Given the description of an element on the screen output the (x, y) to click on. 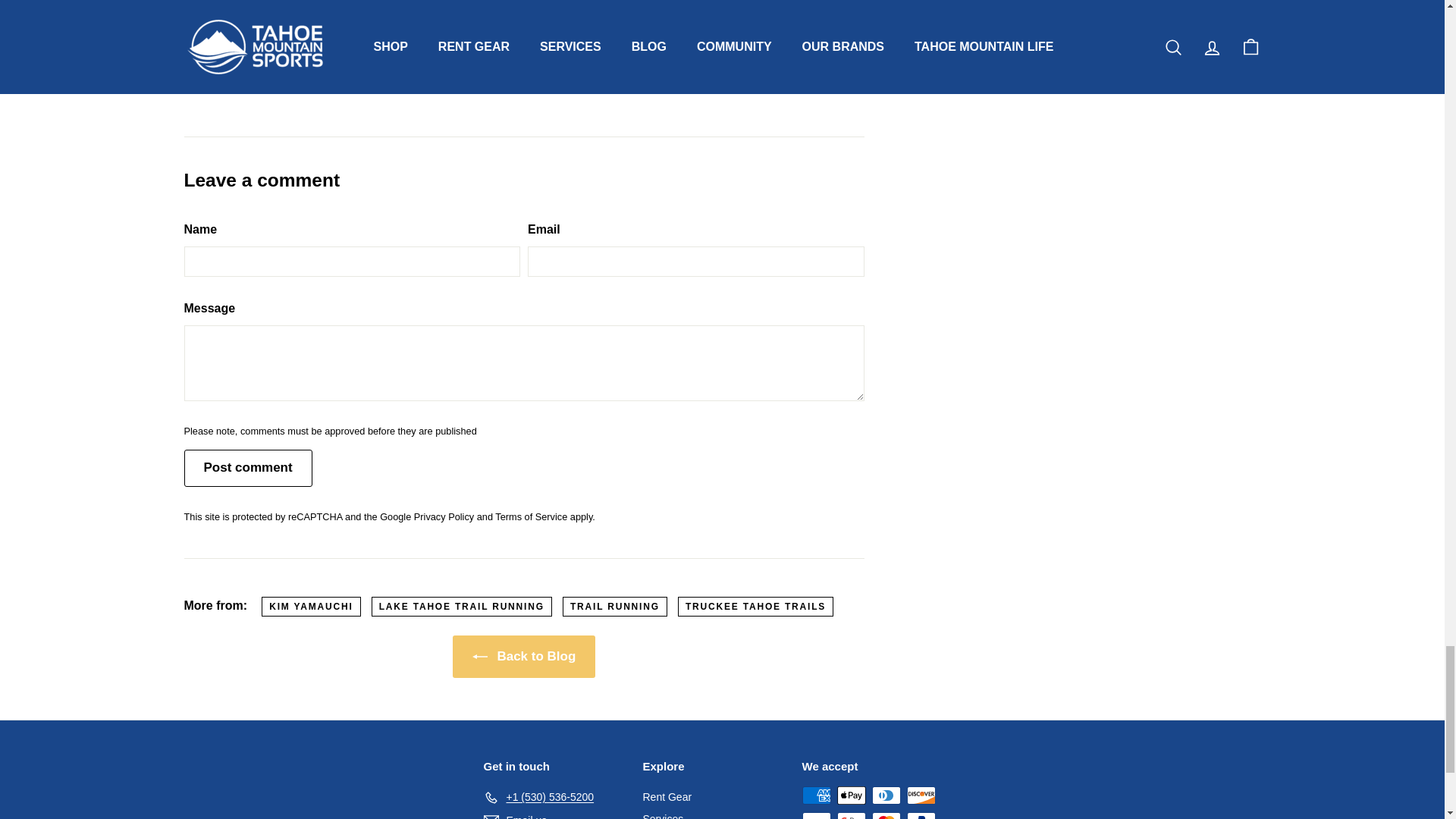
Meta Pay (816, 815)
Diners Club (886, 795)
Discover (921, 795)
American Express (816, 795)
Mastercard (886, 815)
PayPal (921, 815)
Google Pay (851, 815)
Apple Pay (851, 795)
